Given the description of an element on the screen output the (x, y) to click on. 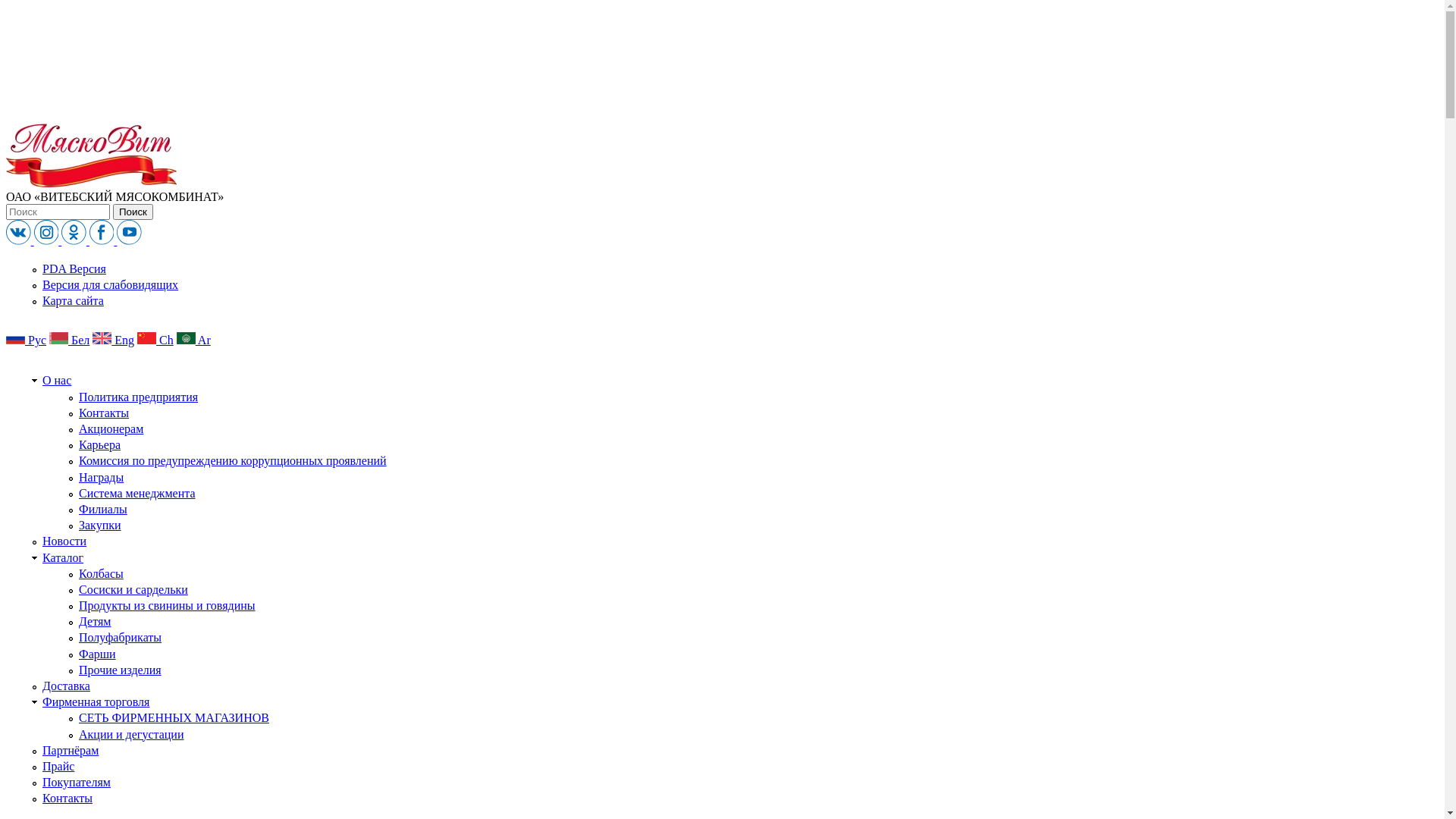
 Ch Element type: text (155, 339)
 Ar Element type: text (193, 339)
 Eng Element type: text (113, 339)
